Given the description of an element on the screen output the (x, y) to click on. 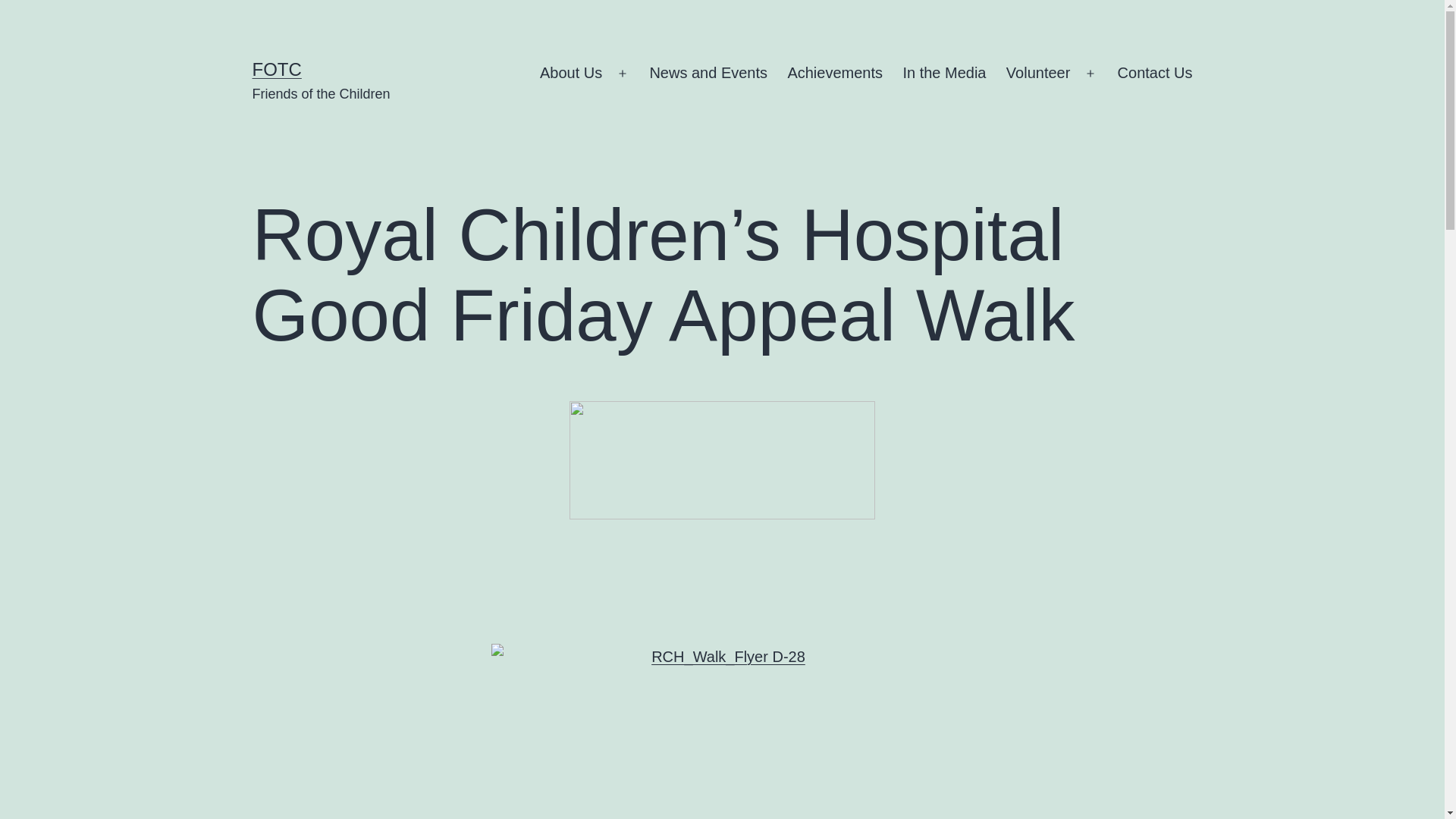
News and Events Element type: text (708, 73)
FOTC Element type: text (276, 69)
Contact Us Element type: text (1154, 73)
About Us Element type: text (571, 73)
Volunteer Element type: text (1038, 73)
In the Media Element type: text (943, 73)
Open menu Element type: text (622, 73)
Achievements Element type: text (834, 73)
Open menu Element type: text (1090, 73)
